Given the description of an element on the screen output the (x, y) to click on. 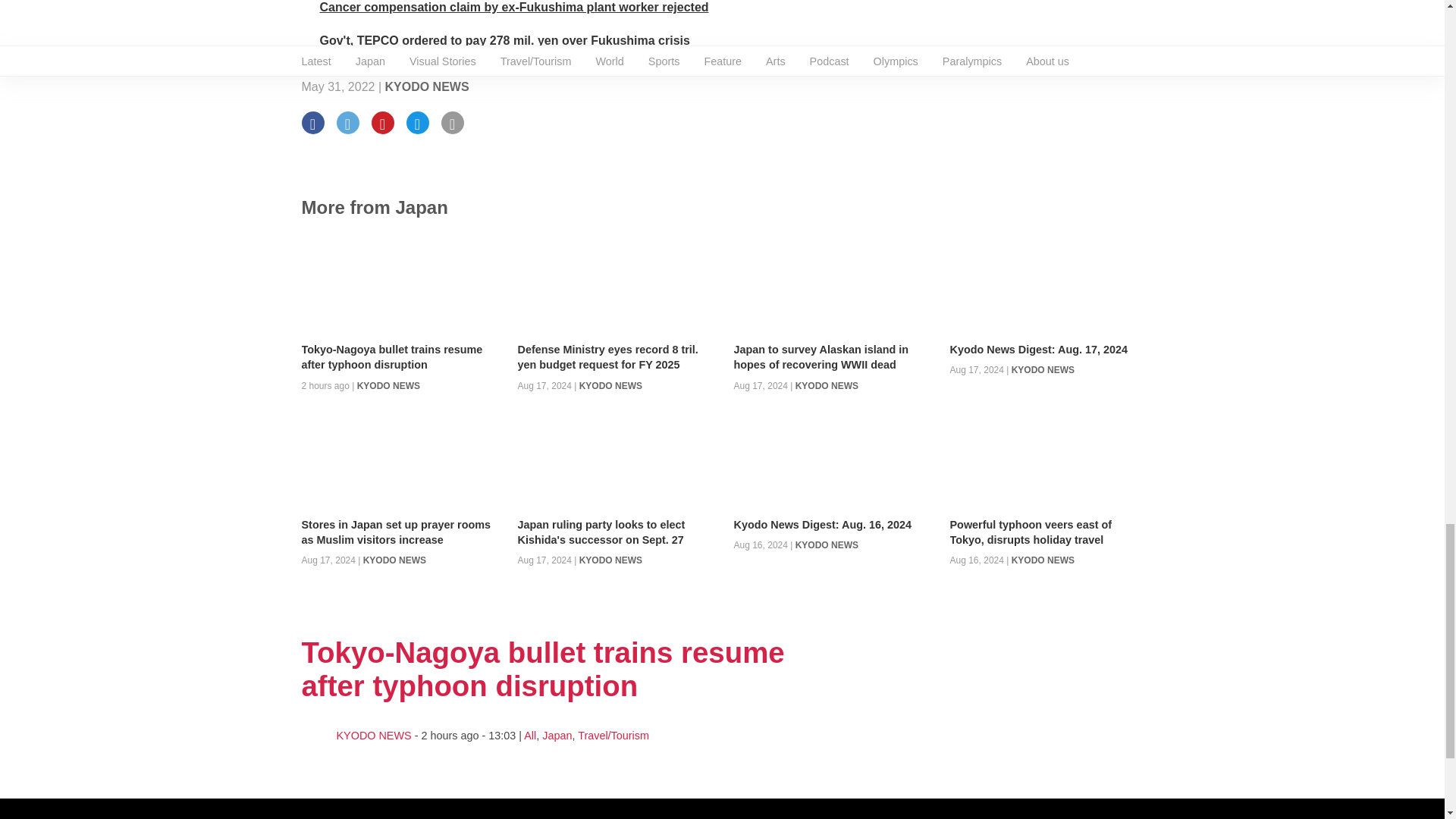
KYODO NEWS (426, 86)
Kyodo News Plus (505, 40)
Kyodo News Plus (514, 6)
